Given the description of an element on the screen output the (x, y) to click on. 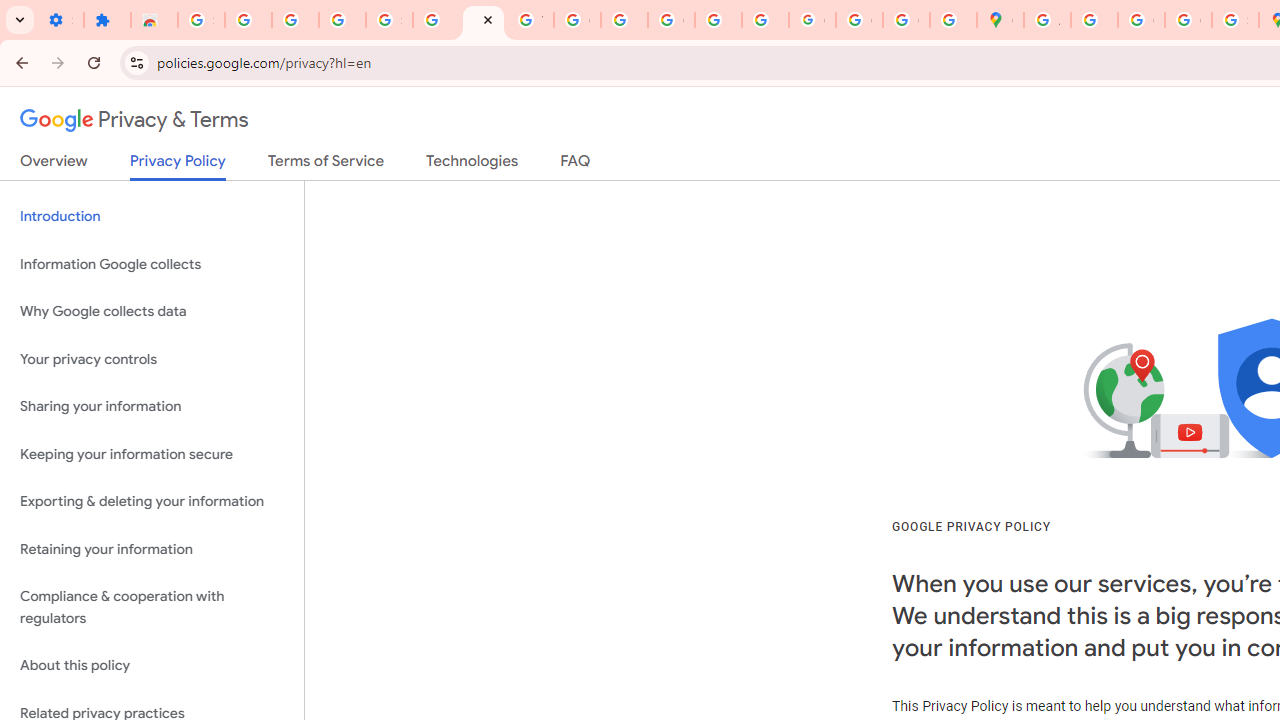
Learn how to find your photos - Google Photos Help (294, 20)
Reviews: Helix Fruit Jump Arcade Game (153, 20)
Sign in - Google Accounts (201, 20)
Why Google collects data (152, 312)
